Given the description of an element on the screen output the (x, y) to click on. 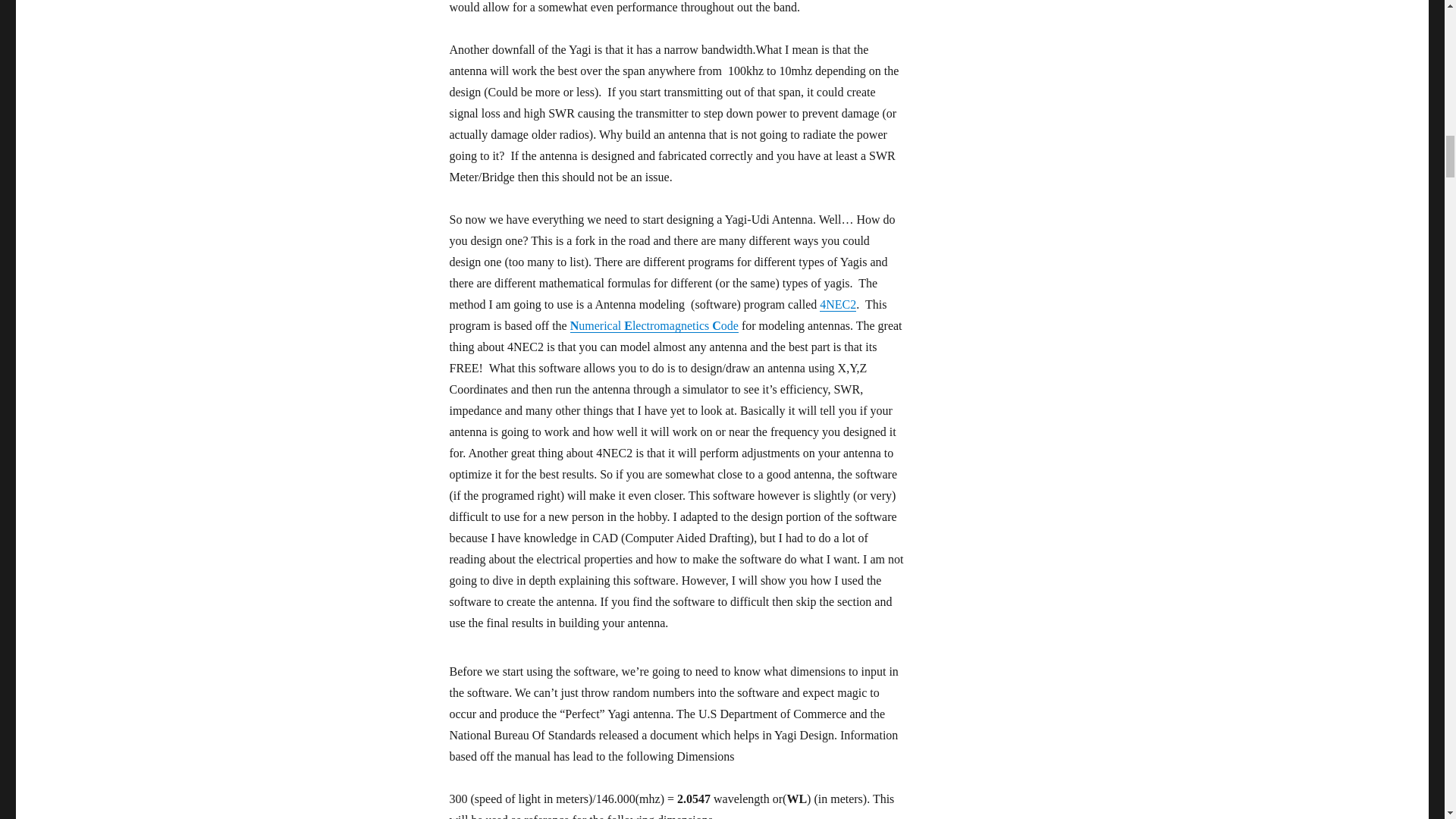
Numerical Electromagnetics Code (654, 325)
4NEC2 (837, 304)
